Given the description of an element on the screen output the (x, y) to click on. 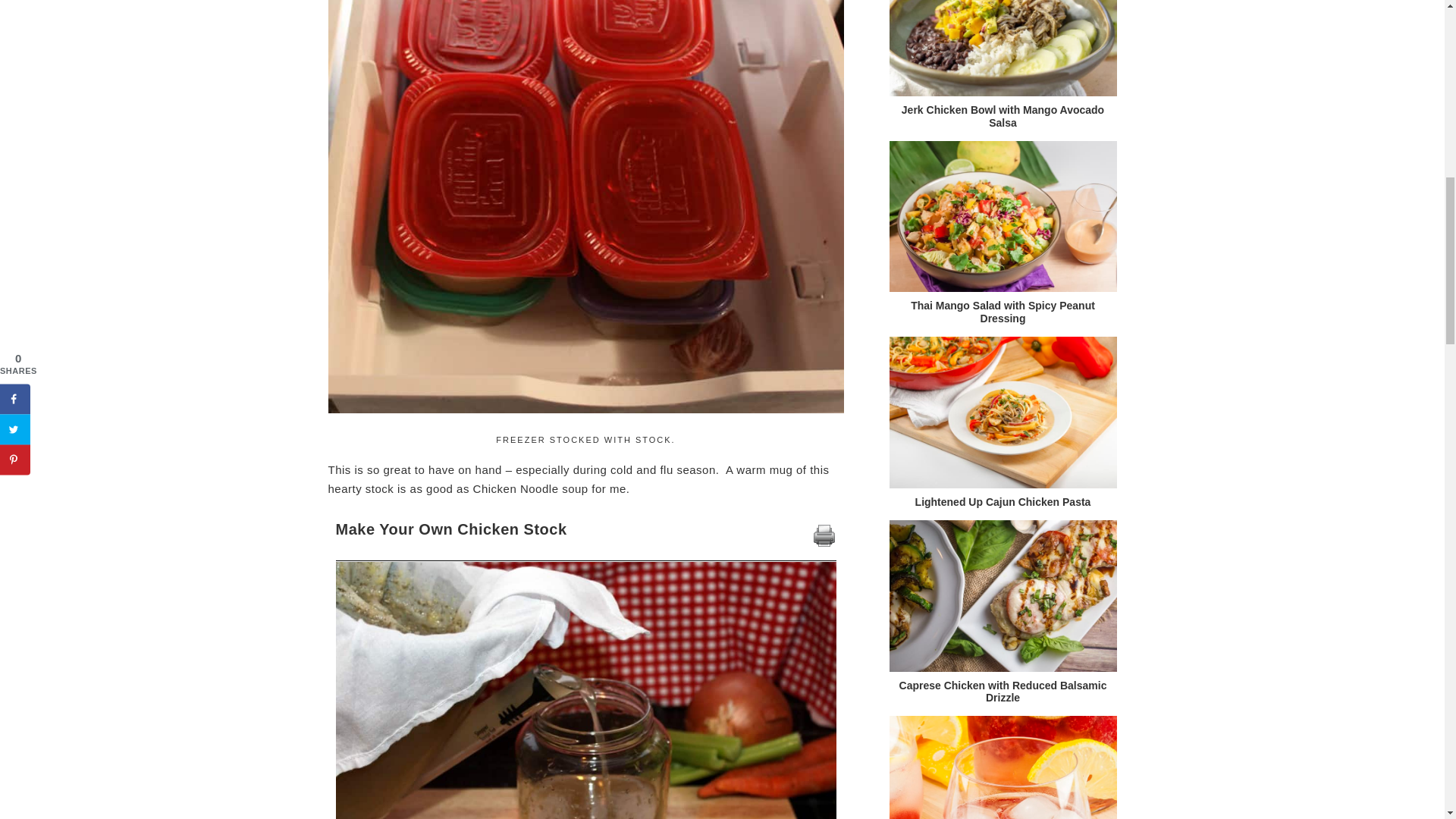
Thai Mango Salad with Spicy Peanut Dressing (1002, 216)
Jerk Chicken Bowl with Mango Avocado Salsa (1002, 48)
Thai Mango Salad with Spicy Peanut Dressing (1002, 311)
Print this recipe (822, 543)
Make Your Own Chicken Stock (584, 690)
Lightened Up Cajun Chicken Pasta (1002, 412)
Jerk Chicken Bowl with Mango Avocado Salsa (1002, 116)
